Given the description of an element on the screen output the (x, y) to click on. 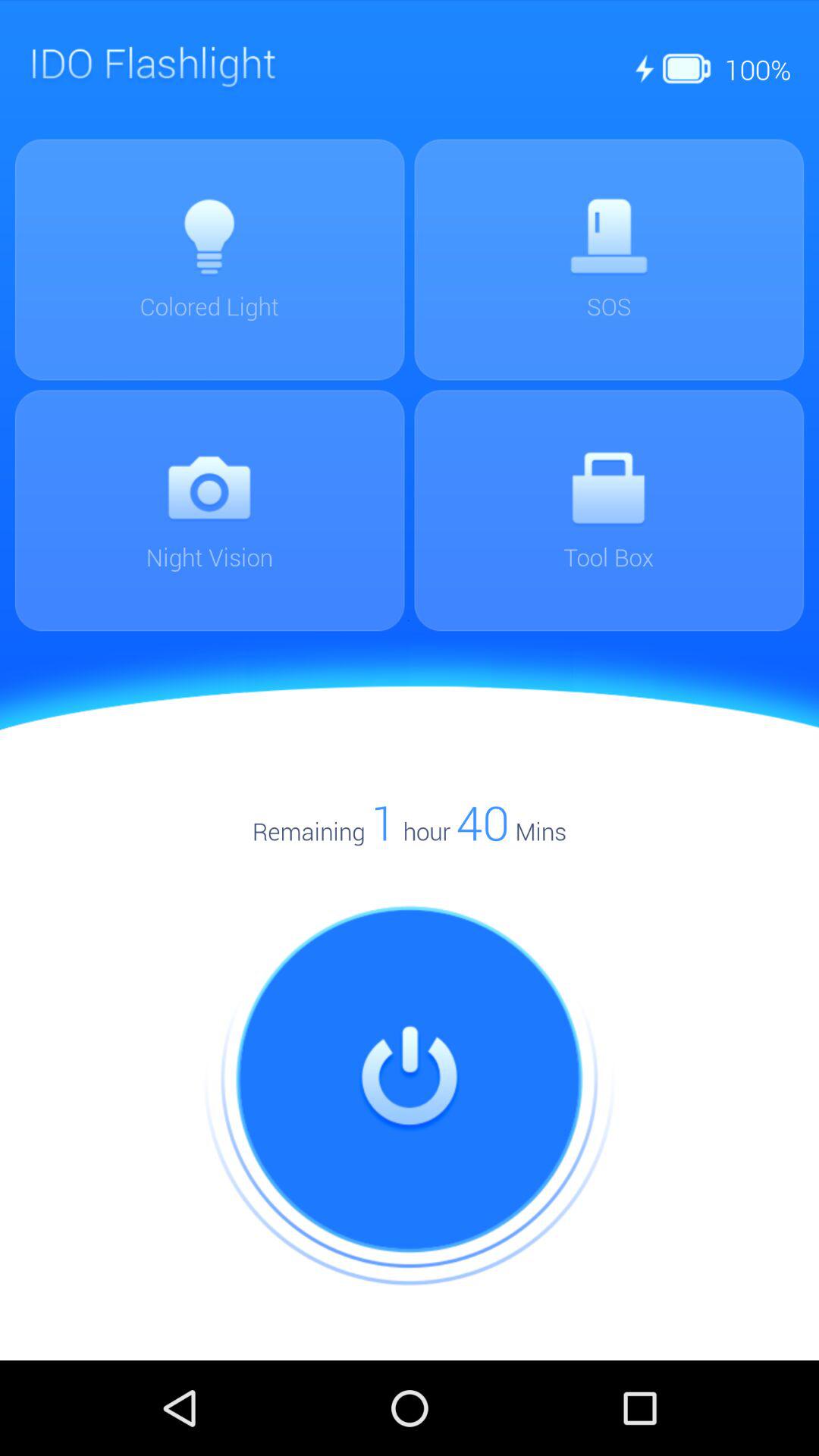
turn on flashlight (409, 1079)
